Given the description of an element on the screen output the (x, y) to click on. 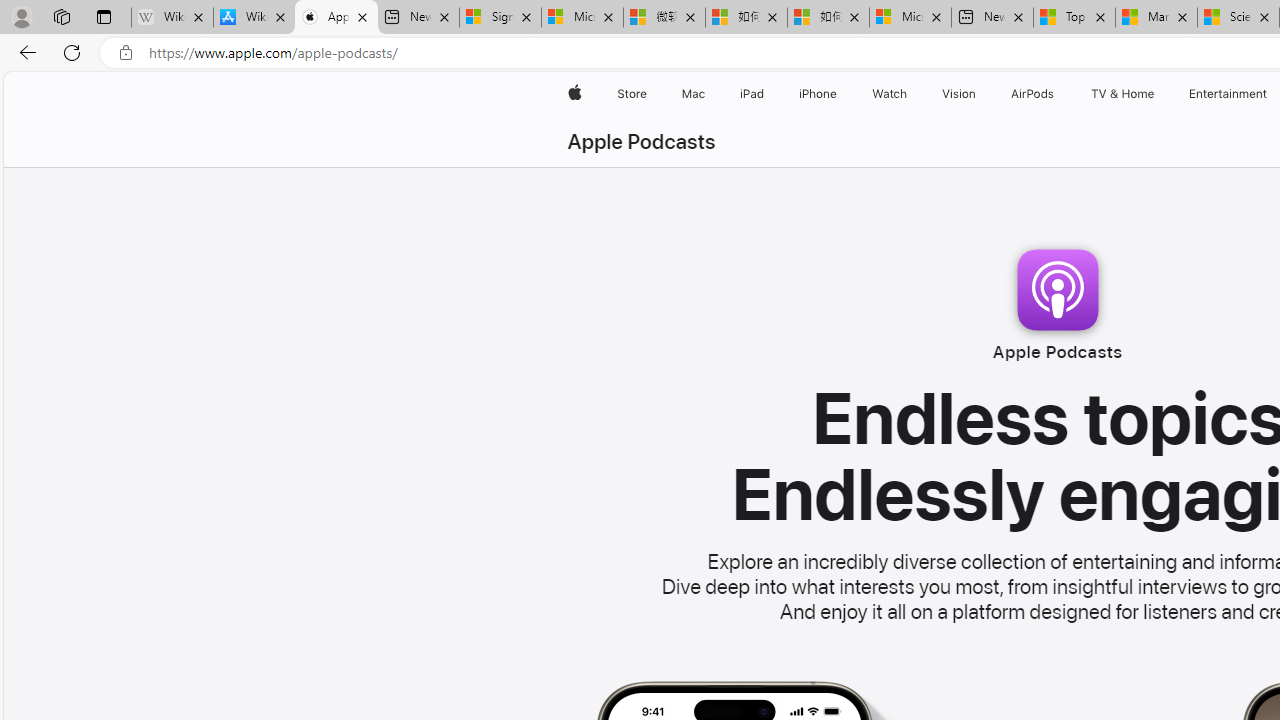
TV and Home (1122, 93)
TV and Home menu (1157, 93)
Apple Podcasts - Apple (336, 17)
